Given the description of an element on the screen output the (x, y) to click on. 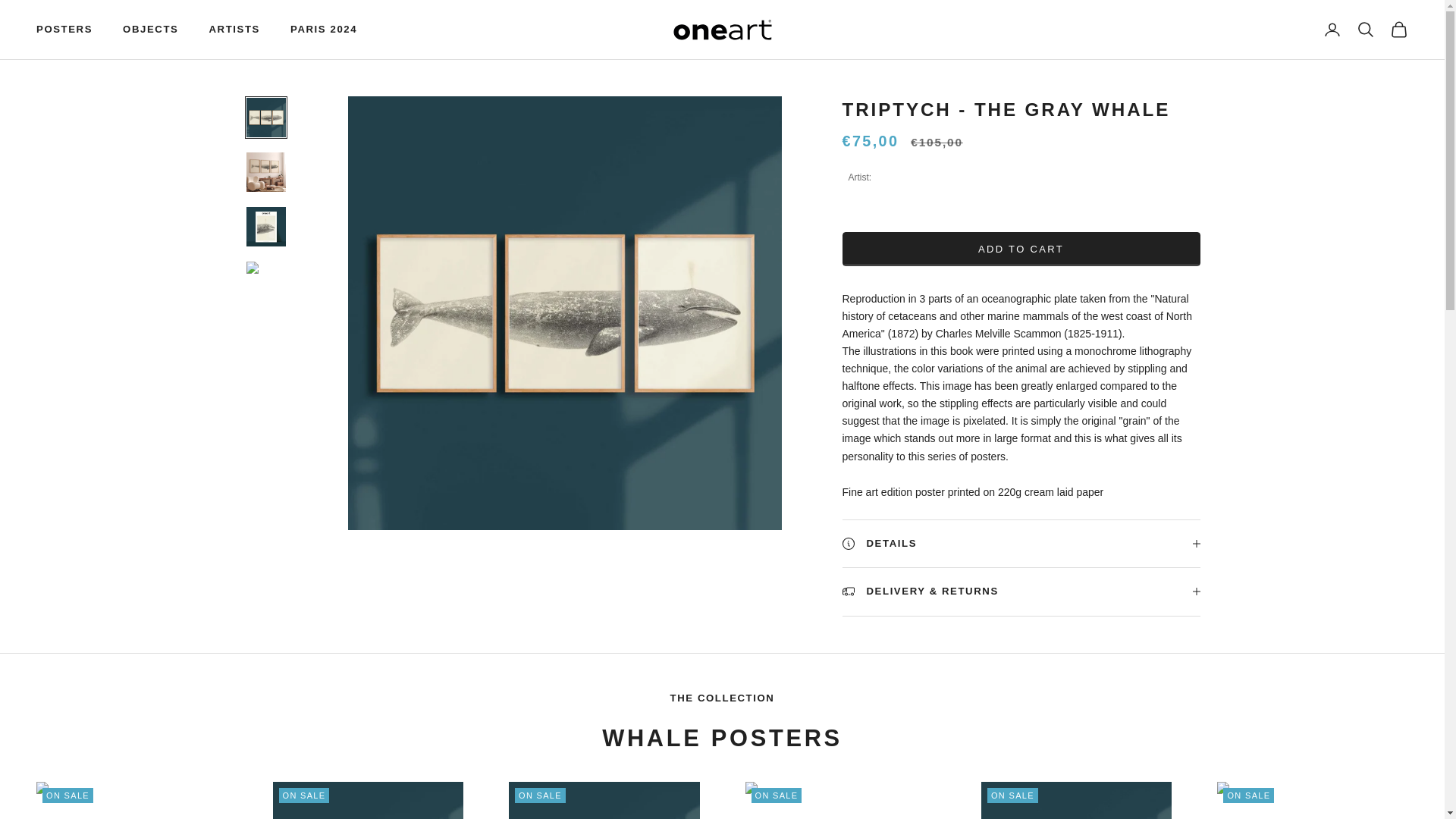
oneart.fr (721, 29)
ARTISTS (234, 29)
